Given the description of an element on the screen output the (x, y) to click on. 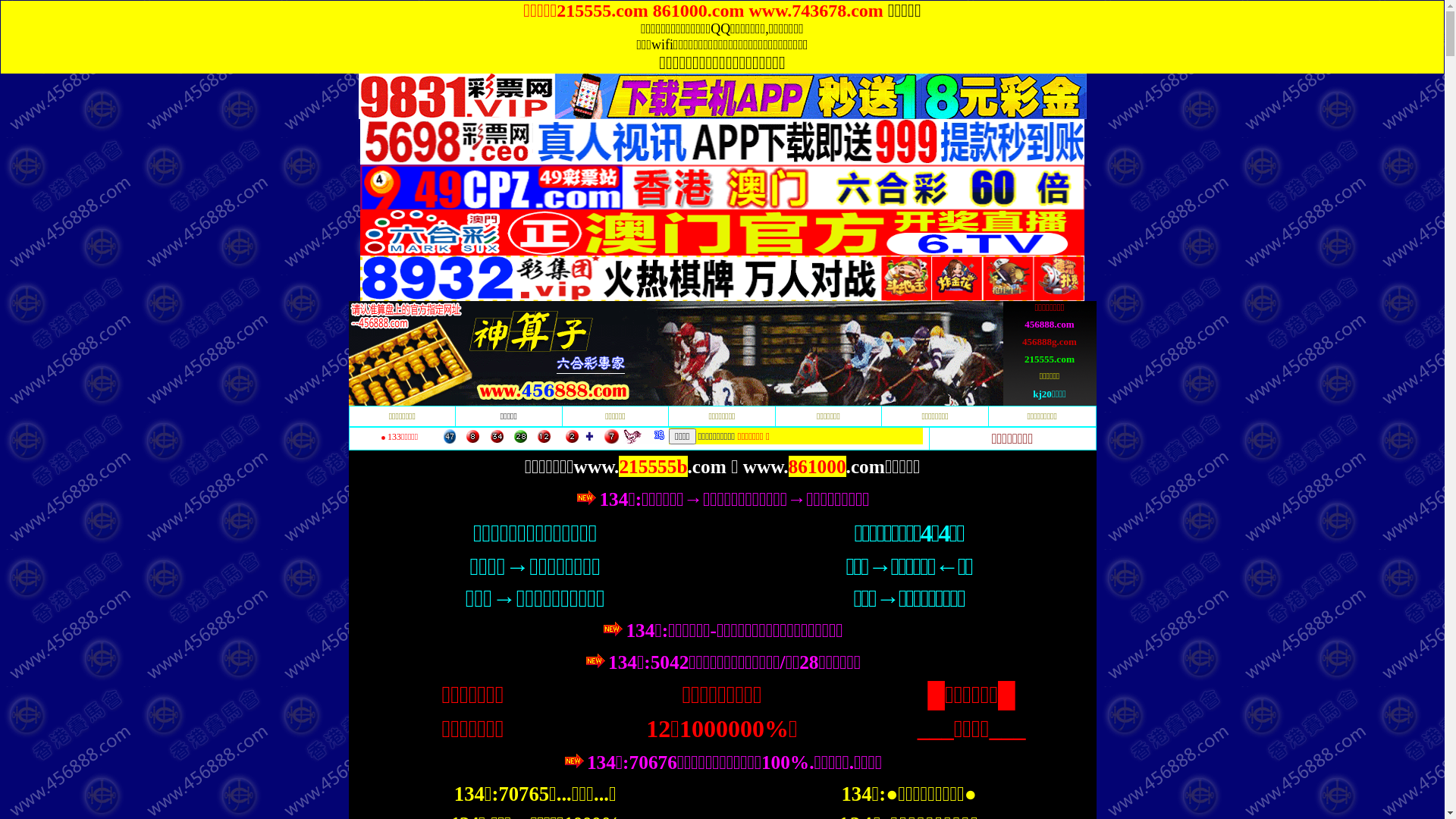
861000 Element type: text (817, 465)
b Element type: text (681, 465)
.com Element type: text (865, 465)
215555 Element type: text (647, 465)
